Given the description of an element on the screen output the (x, y) to click on. 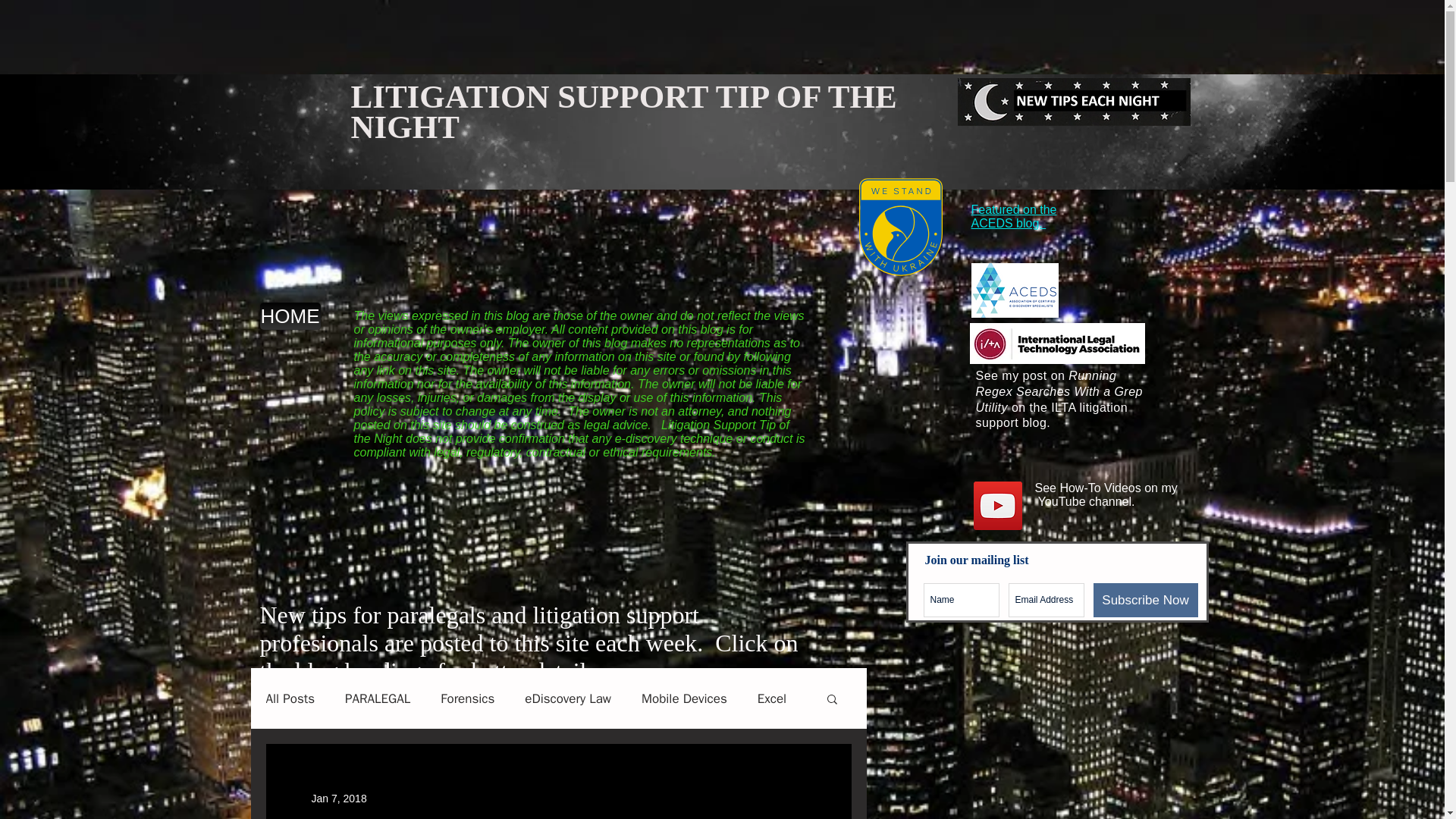
HOME (289, 316)
Subscribe Now (1145, 600)
Jan 7, 2018 (338, 797)
eDiscovery Law (567, 698)
Mobile Devices (684, 698)
Forensics (468, 698)
See How-To Videos on my  YouTube channel. (1104, 494)
PARALEGAL (377, 698)
Featured on the ACEDS blog.  (1014, 216)
logo.jpg (304, 122)
Excel (771, 698)
Advertisement (275, 33)
All Posts (289, 698)
